Given the description of an element on the screen output the (x, y) to click on. 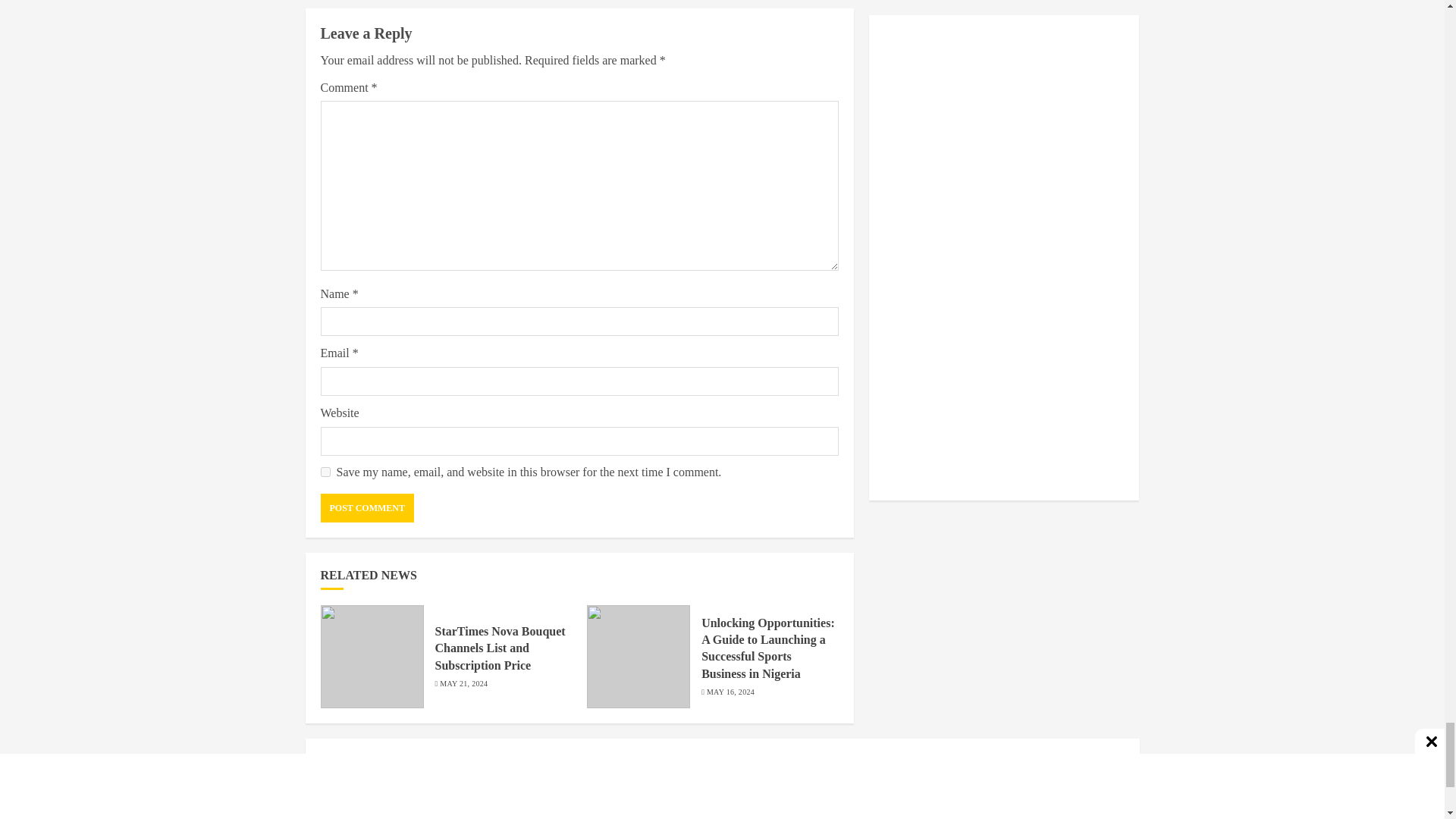
Post Comment (366, 507)
MAY 16, 2024 (730, 692)
yes (325, 471)
MAY 21, 2024 (463, 683)
Post Comment (366, 507)
StarTimes Nova Bouquet Channels List and Subscription Price (500, 648)
StarTimes Nova Bouquet Channels List and Subscription Price (500, 814)
